Given the description of an element on the screen output the (x, y) to click on. 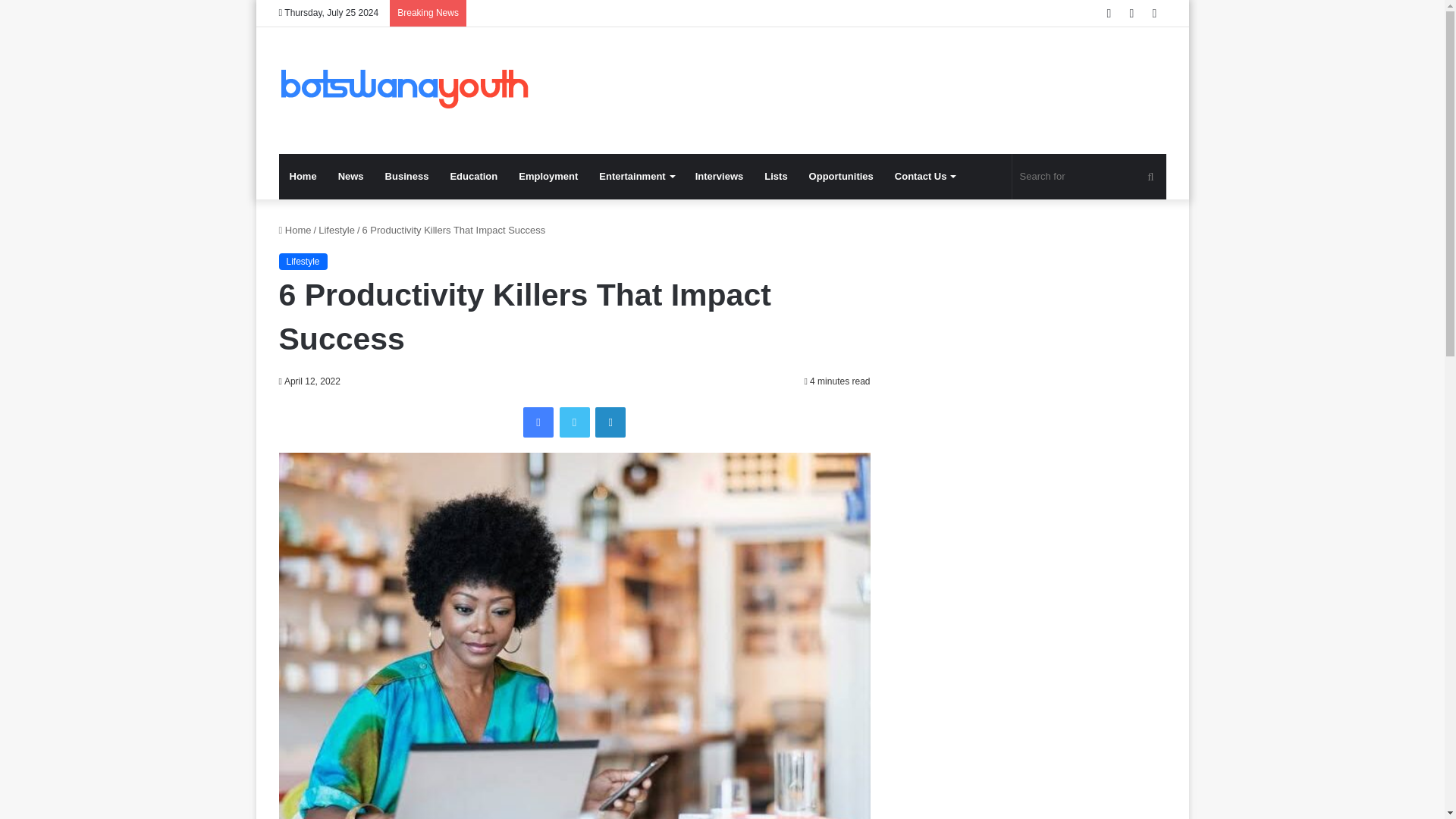
LinkedIn (610, 422)
Botswana Youth Magazine (404, 90)
Business (406, 176)
Home (303, 176)
Search for (1088, 176)
Search for (1150, 176)
Lists (775, 176)
Twitter (574, 422)
Random Article (1131, 13)
Interviews (719, 176)
Twitter (574, 422)
Home (295, 229)
Lifestyle (336, 229)
Facebook (537, 422)
Sidebar (1154, 13)
